Given the description of an element on the screen output the (x, y) to click on. 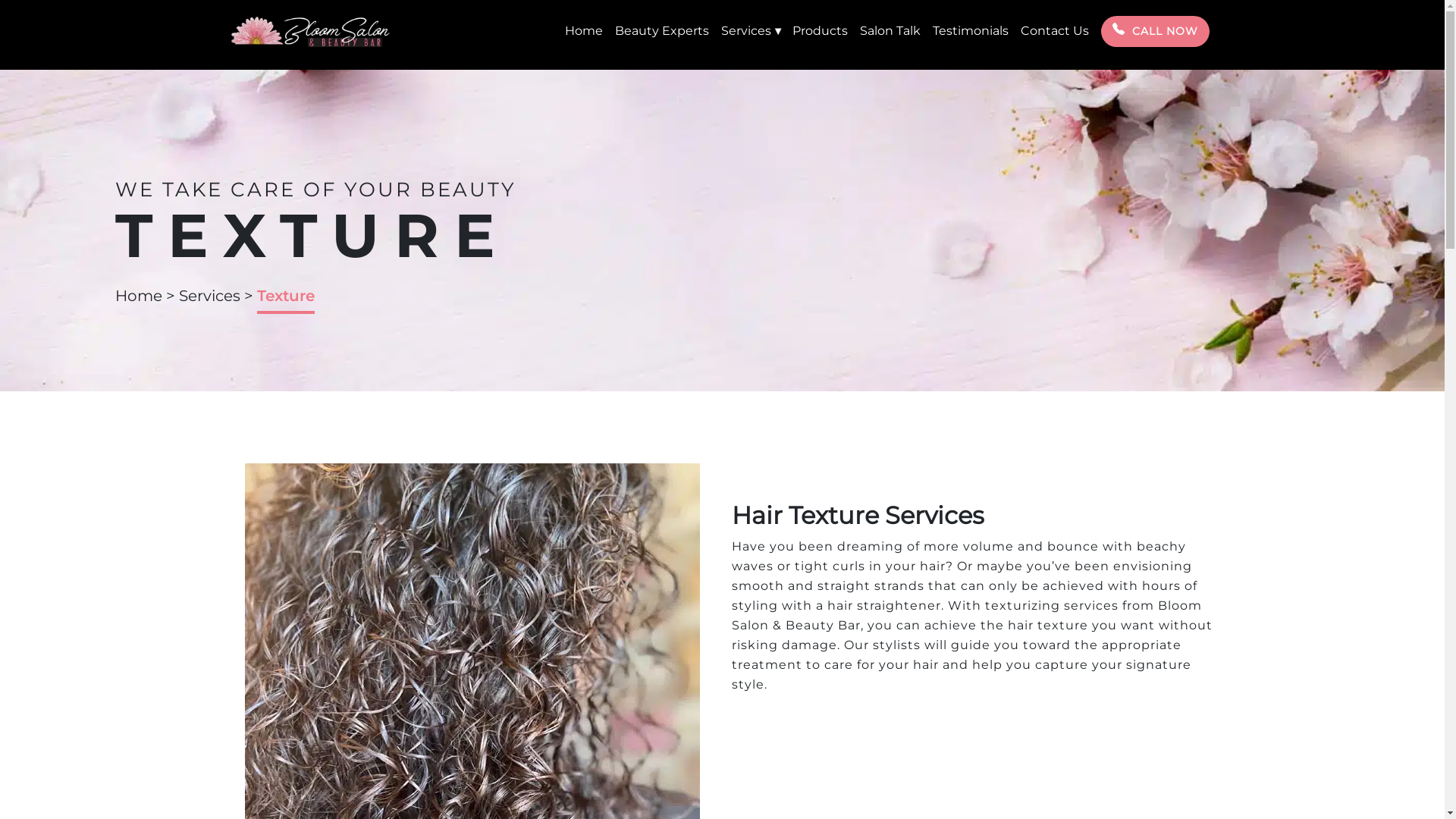
Beauty Experts Element type: text (661, 30)
Texture Element type: hover (471, 729)
Services Element type: text (209, 295)
Home Element type: text (138, 295)
Testimonials Element type: text (970, 30)
Contact Us Element type: text (1054, 30)
Services Element type: text (749, 30)
Home Element type: text (583, 30)
Salon Talk Element type: text (889, 30)
Products Element type: text (819, 30)
CALL NOW Element type: text (1155, 31)
